Given the description of an element on the screen output the (x, y) to click on. 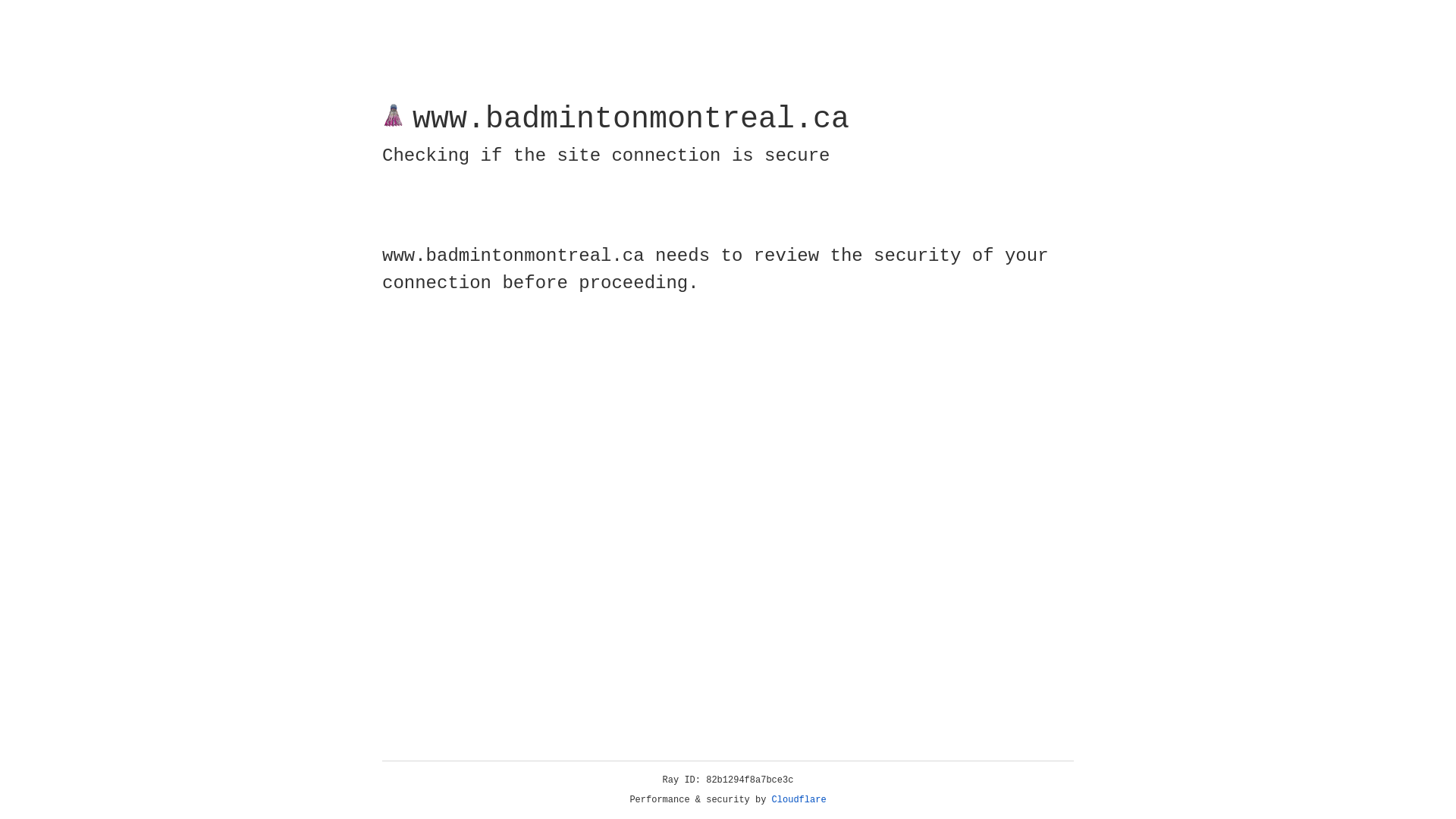
Cloudflare Element type: text (798, 799)
